Given the description of an element on the screen output the (x, y) to click on. 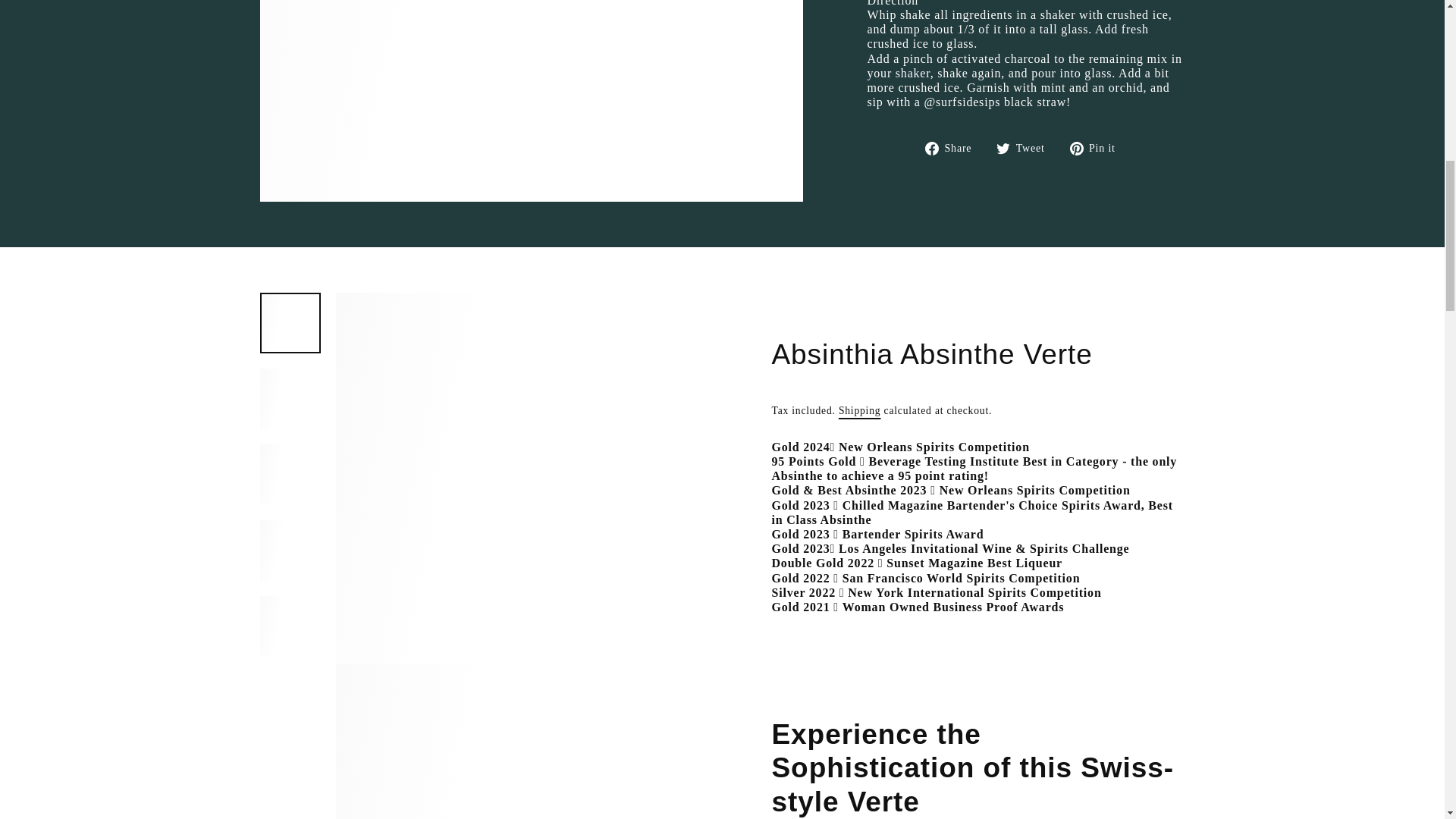
Share on Facebook (953, 148)
Pin on Pinterest (1098, 148)
Tweet on Twitter (1025, 148)
